Given the description of an element on the screen output the (x, y) to click on. 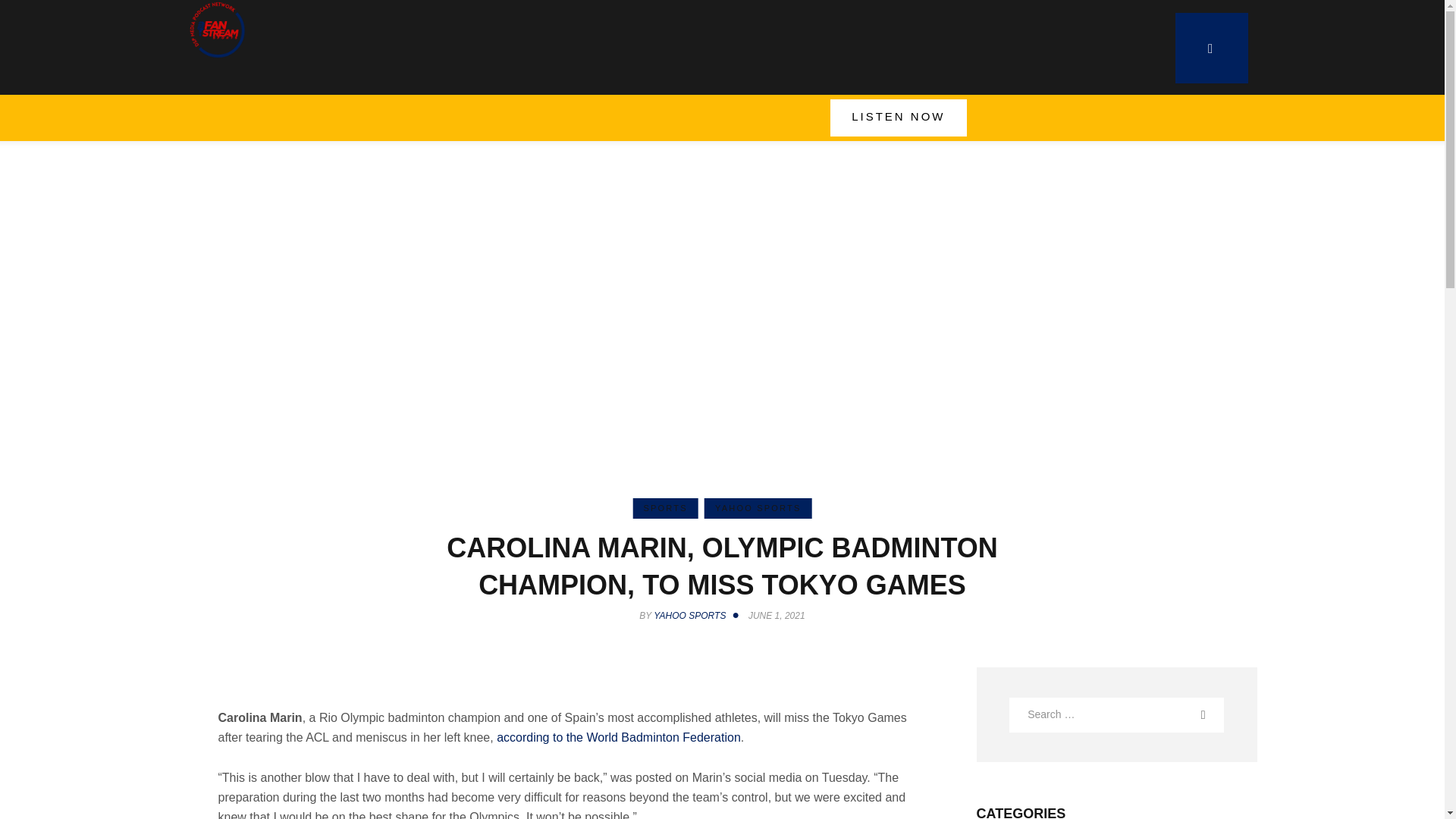
BY YAHOO SPORTS (692, 615)
LISTEN NOW (897, 117)
SPORTS (664, 507)
YAHOO SPORTS (757, 507)
